Given the description of an element on the screen output the (x, y) to click on. 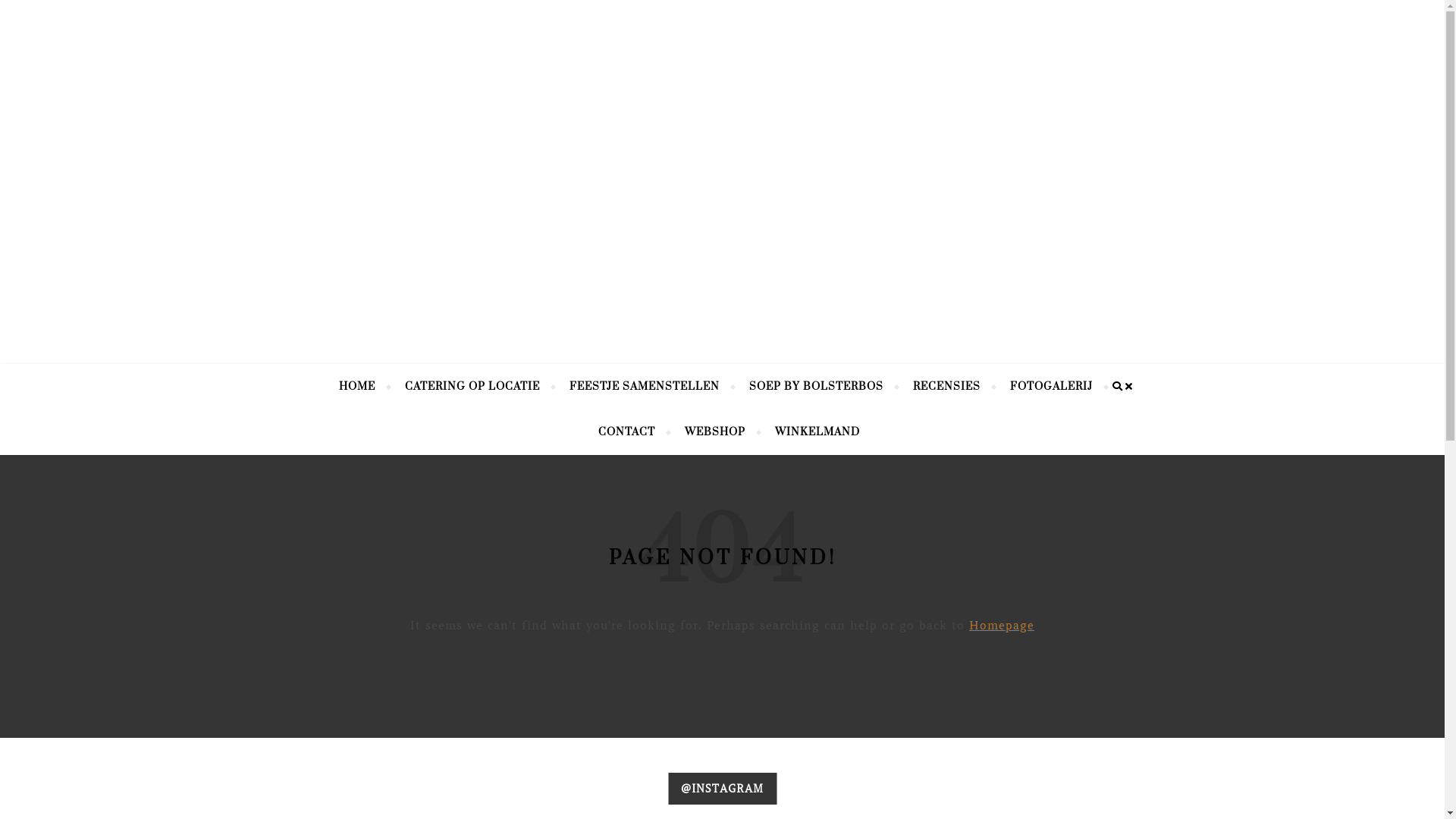
CONTACT Element type: text (626, 432)
CATERING OP LOCATIE Element type: text (472, 386)
FEESTJE SAMENSTELLEN Element type: text (644, 386)
WEBSHOP Element type: text (714, 432)
Homepage Element type: text (1001, 625)
HOME Element type: text (363, 386)
RECENSIES Element type: text (946, 386)
FOTOGALERIJ Element type: text (1051, 386)
WINKELMAND Element type: text (810, 432)
SOEP BY BOLSTERBOS Element type: text (816, 386)
Cateringservice Bolsterbos Element type: text (721, 151)
